Given the description of an element on the screen output the (x, y) to click on. 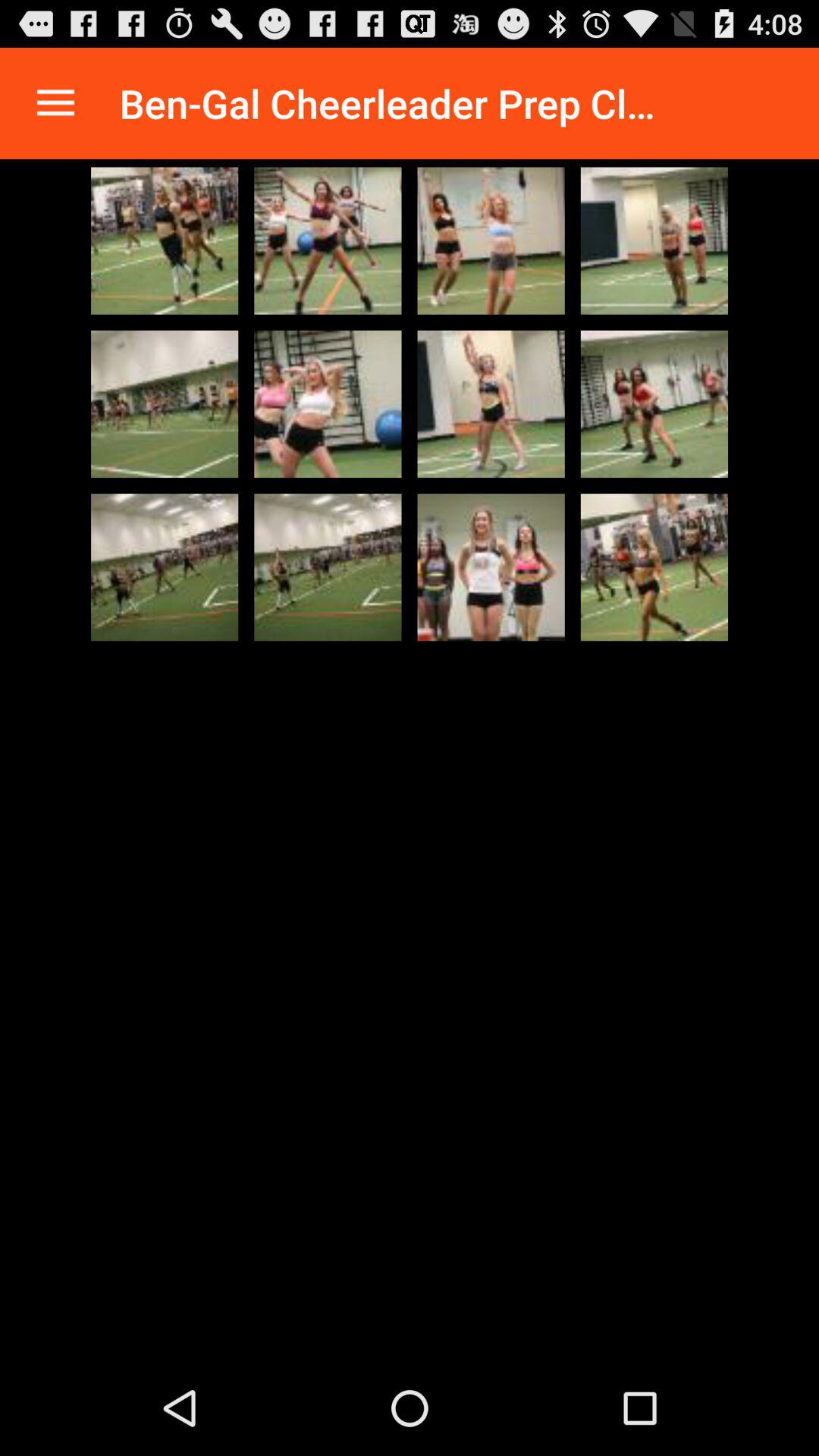
choose this picture (654, 403)
